Given the description of an element on the screen output the (x, y) to click on. 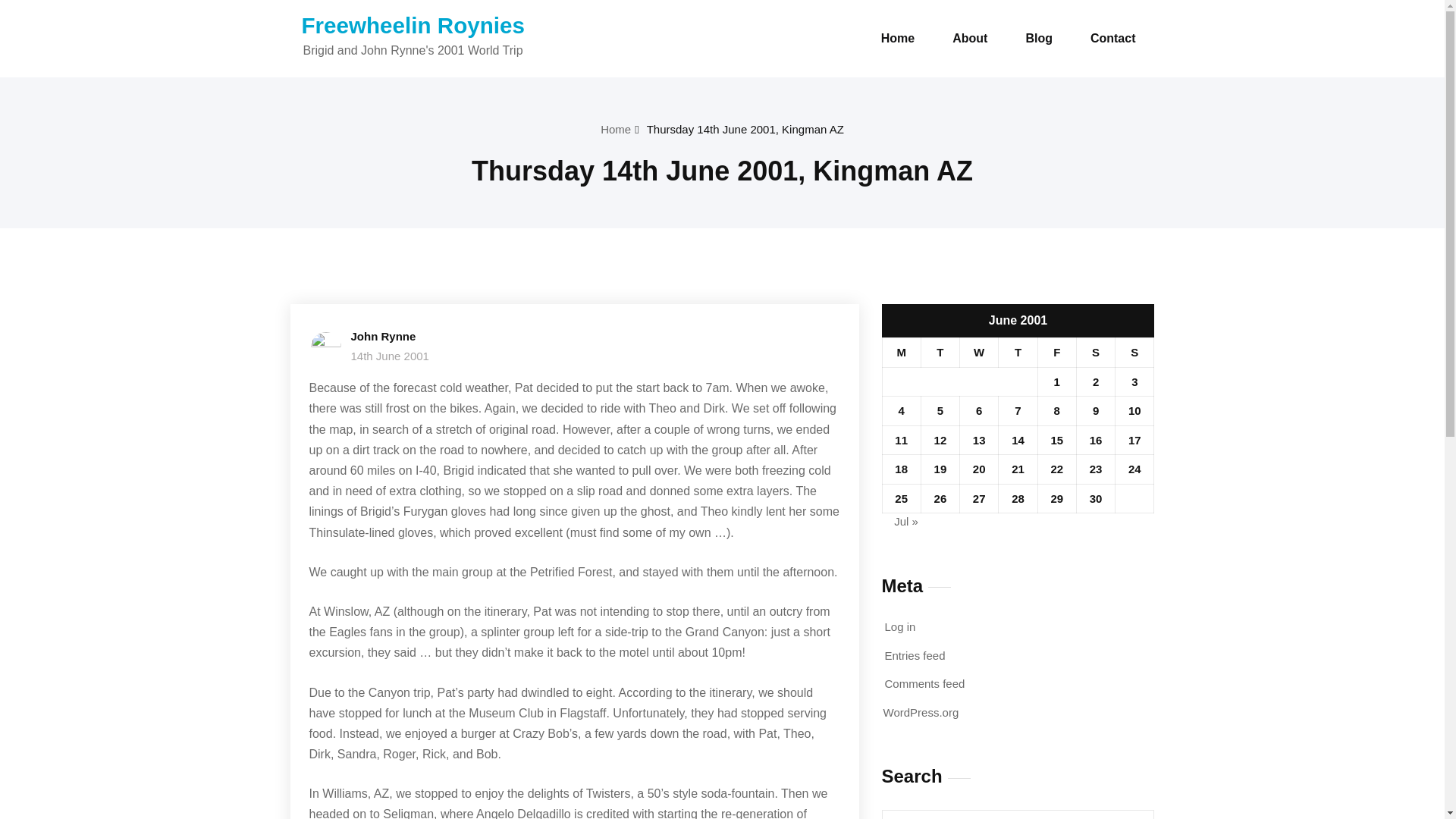
About (969, 38)
7 (1017, 410)
Home (897, 38)
Thursday (1017, 352)
Friday (1055, 352)
Tuesday (939, 352)
17 (1134, 440)
Sunday (1134, 352)
14 (1018, 440)
22 (1055, 468)
5 (940, 410)
10 (1134, 410)
27 (978, 498)
2 (1096, 381)
13 (978, 440)
